Given the description of an element on the screen output the (x, y) to click on. 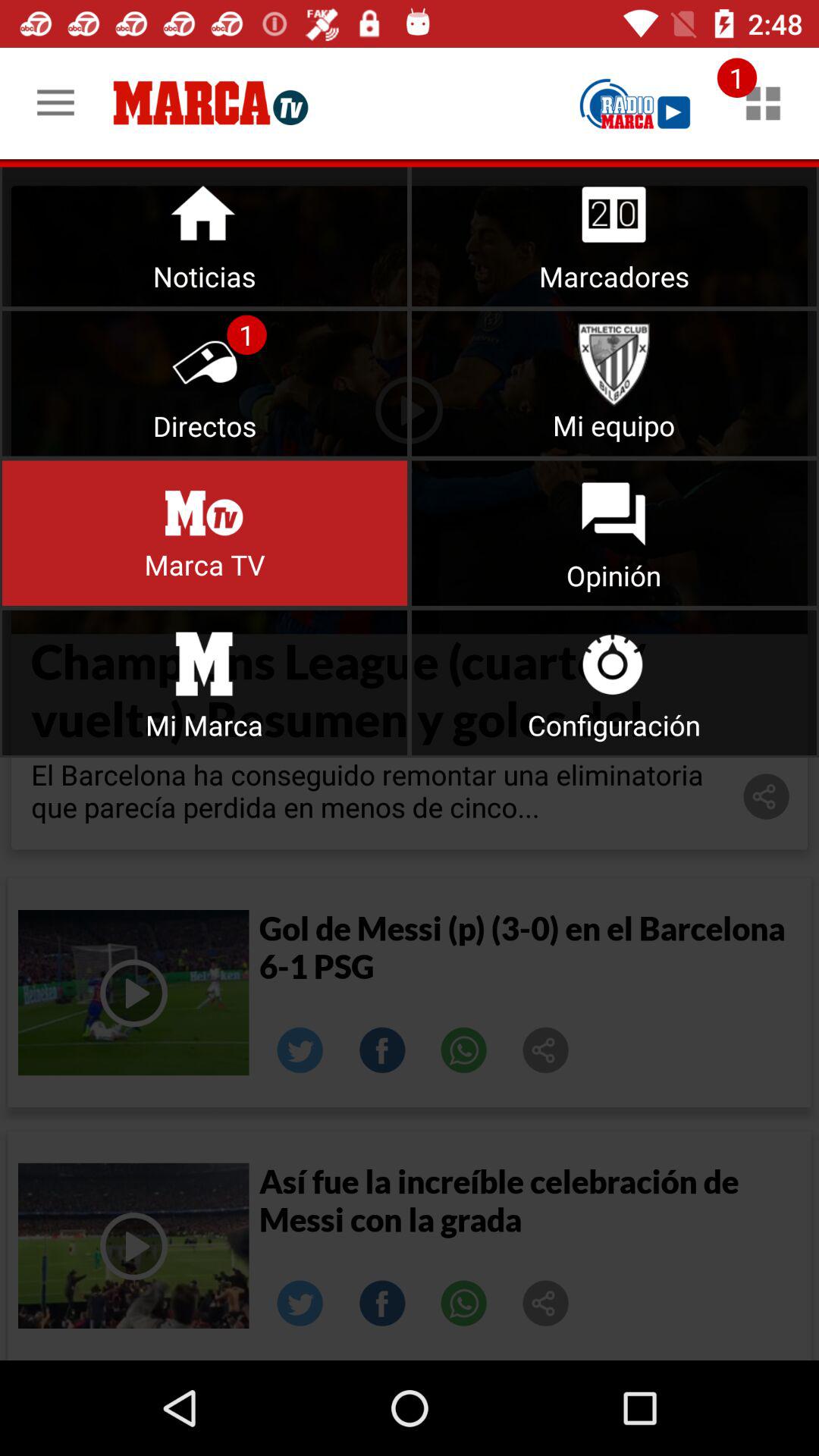
share article (545, 1050)
